Given the description of an element on the screen output the (x, y) to click on. 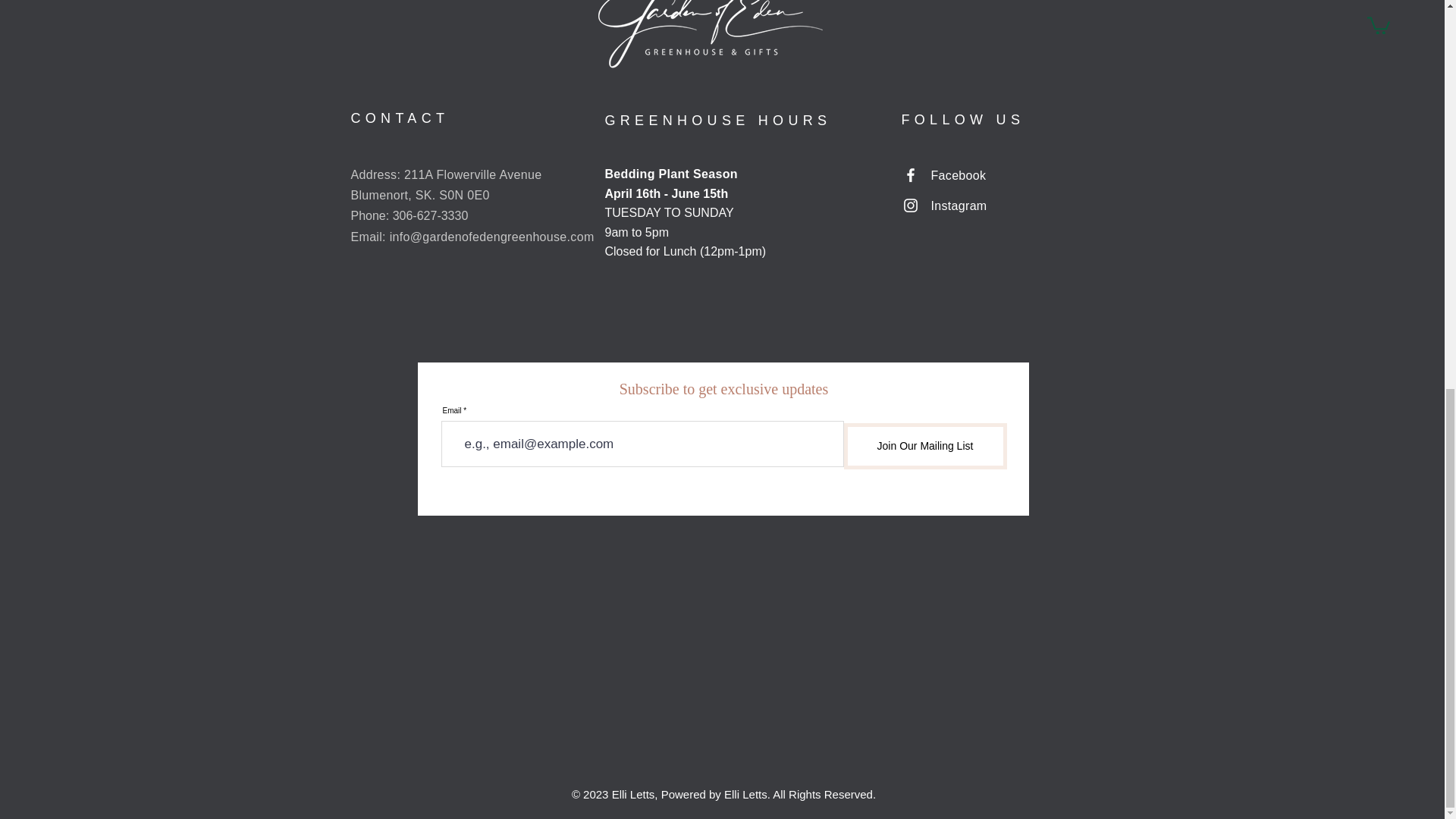
Bedding Plant Season (671, 173)
